Given the description of an element on the screen output the (x, y) to click on. 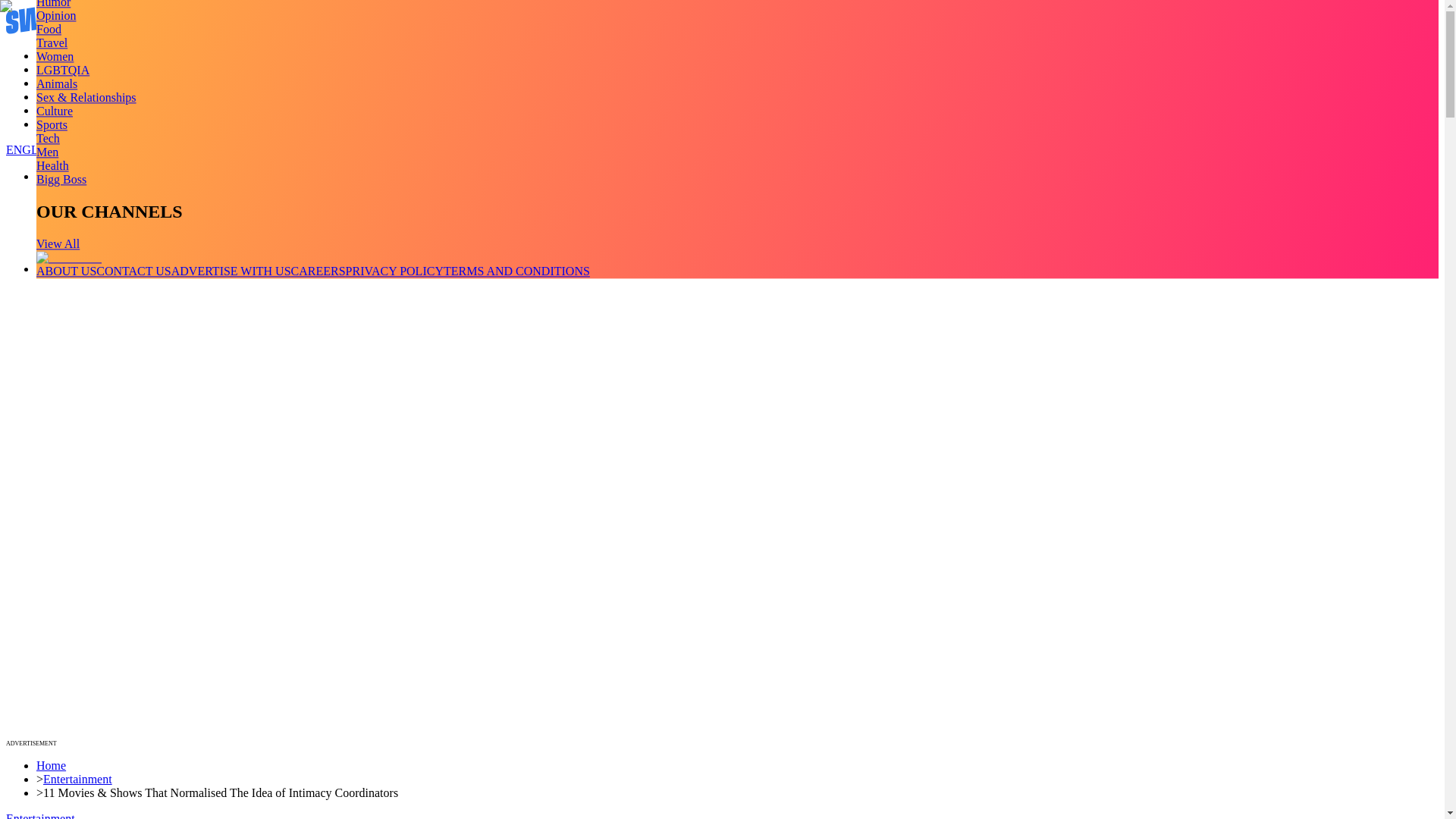
Videos (52, 69)
ADVERTISE WITH US (231, 270)
LGBTQIA (62, 69)
Opinion (55, 15)
Memes (53, 110)
Tech (47, 137)
ENGLISH (31, 149)
Men (47, 151)
Health (52, 164)
Travel (51, 42)
